Given the description of an element on the screen output the (x, y) to click on. 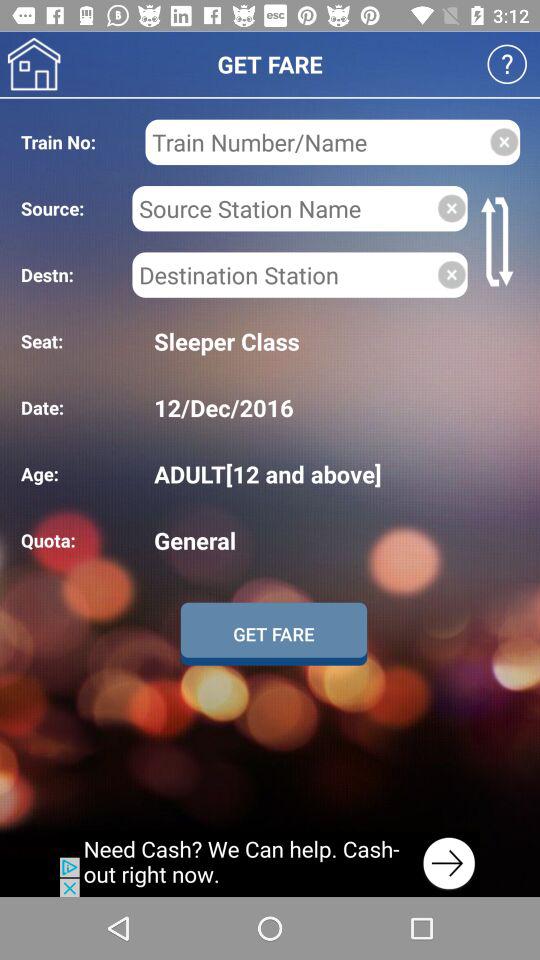
to fill in train name or number used (316, 142)
